Given the description of an element on the screen output the (x, y) to click on. 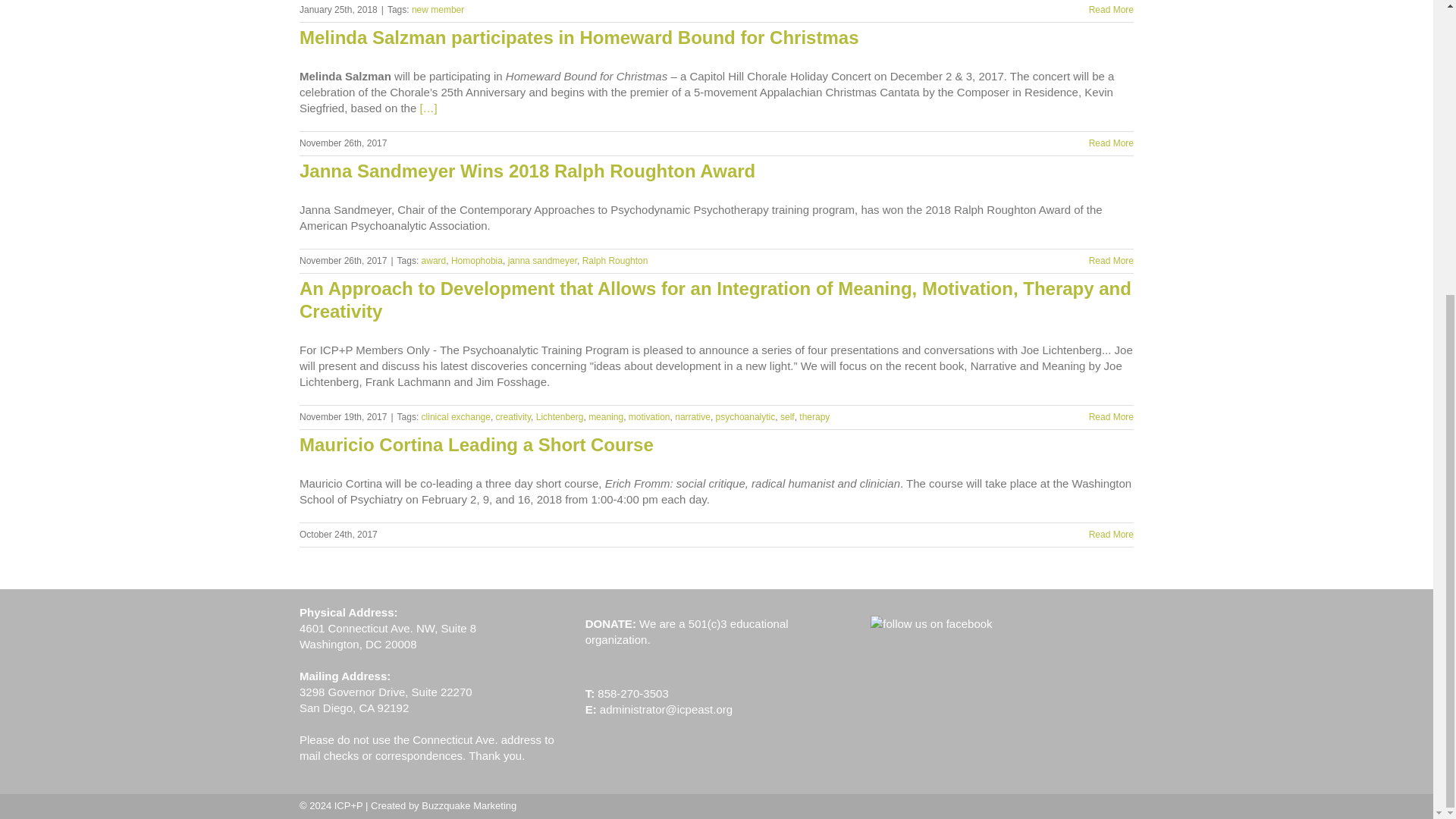
follow us on facebook (930, 623)
